Given the description of an element on the screen output the (x, y) to click on. 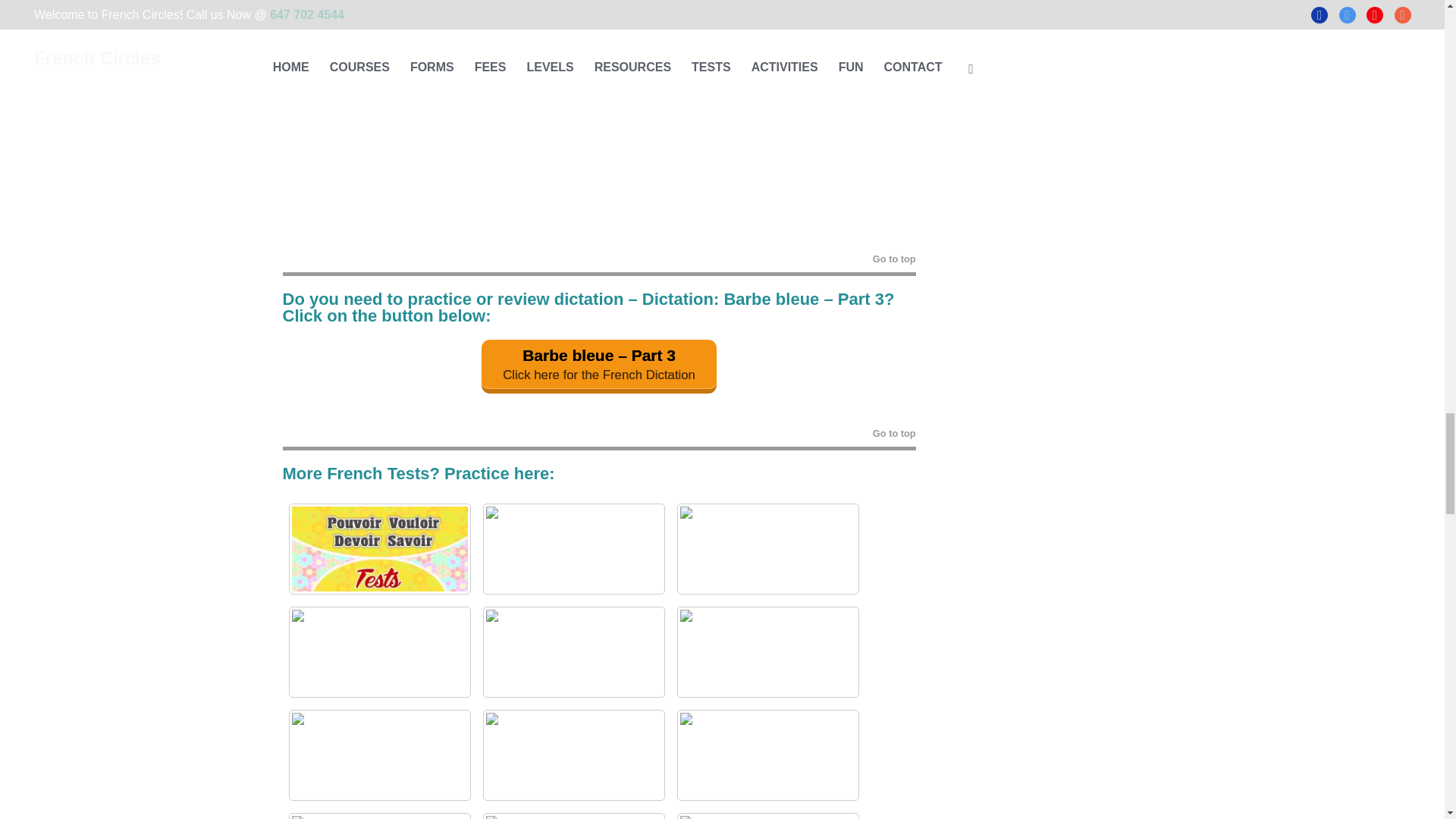
La guillotine-Test (379, 816)
Lolo et Lili-Test (379, 755)
Adjectives T1L1 French test (572, 548)
Une nouvelle carriere-Test (768, 755)
To can to want to be able to and to know French Test (379, 548)
Barbe bleue-Imparfait French test (572, 651)
